Given the description of an element on the screen output the (x, y) to click on. 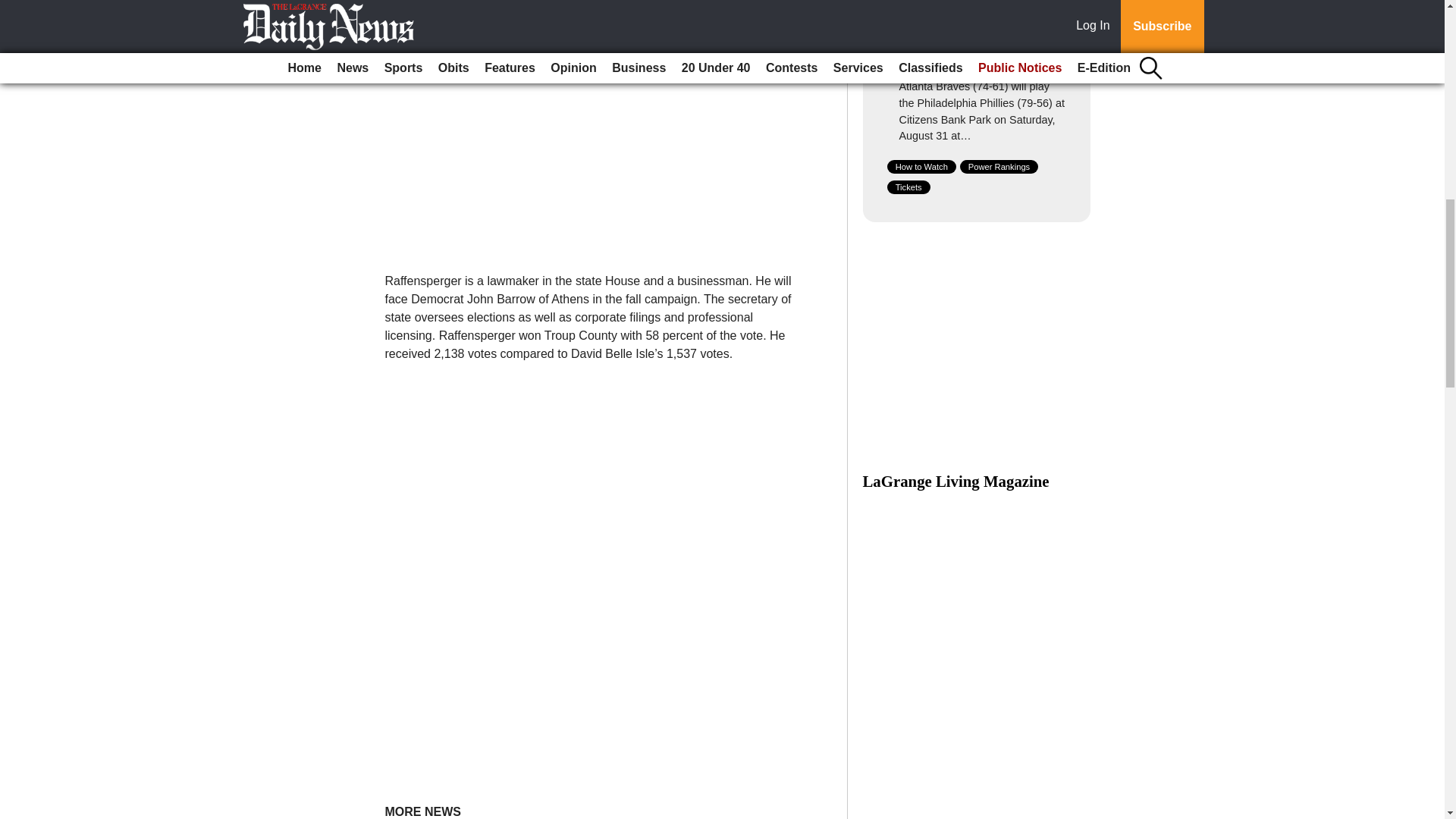
Tickets (908, 187)
How to Watch (921, 166)
Braves vs. Phillies: Betting Preview for August 31 (967, 59)
Power Rankings (999, 166)
